Given the description of an element on the screen output the (x, y) to click on. 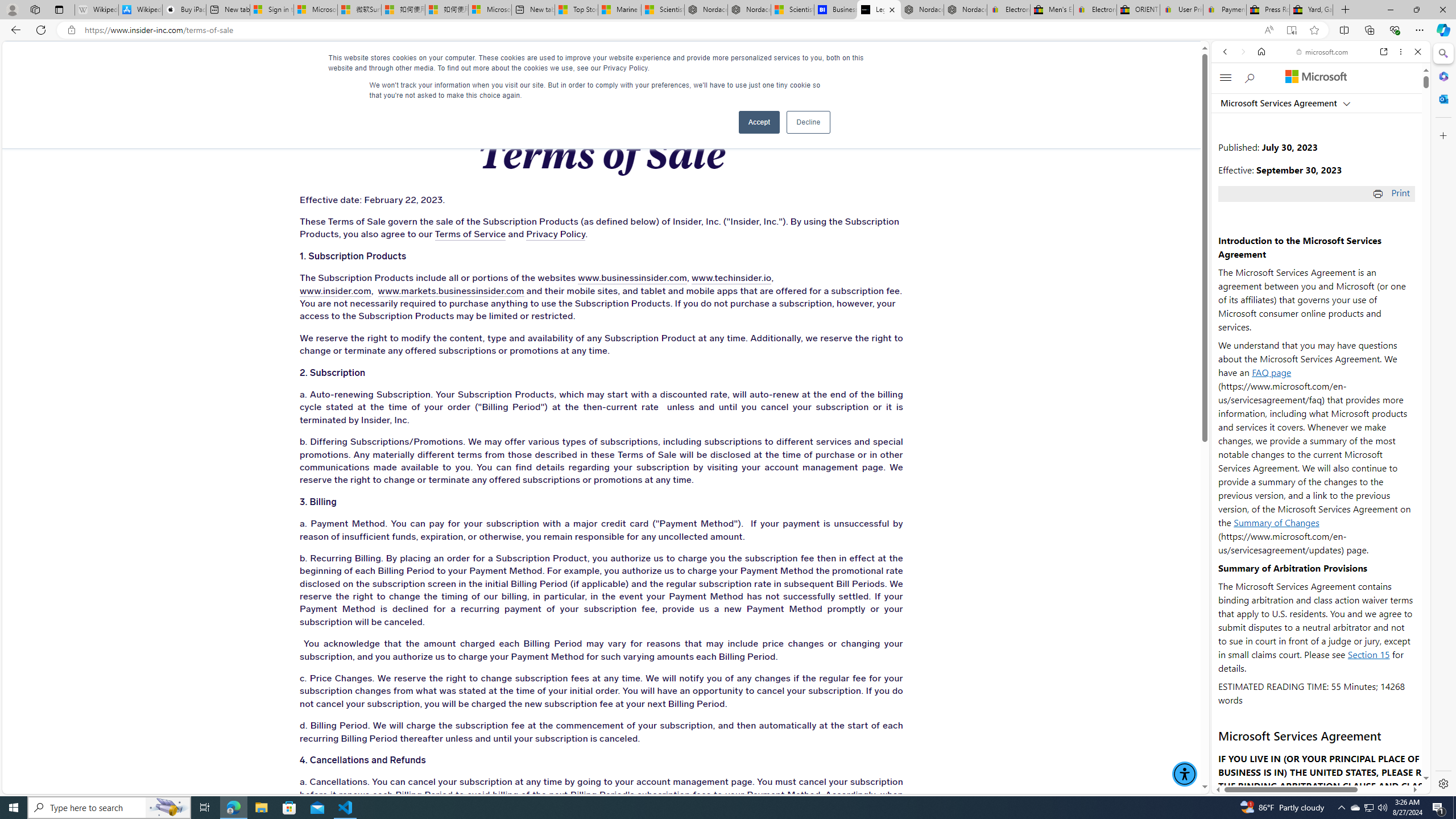
Search Microsoft.com (1250, 77)
Payments Terms of Use | eBay.com (1224, 9)
User Privacy Notice | eBay (1181, 9)
Minimize Search pane (1442, 53)
